Given the description of an element on the screen output the (x, y) to click on. 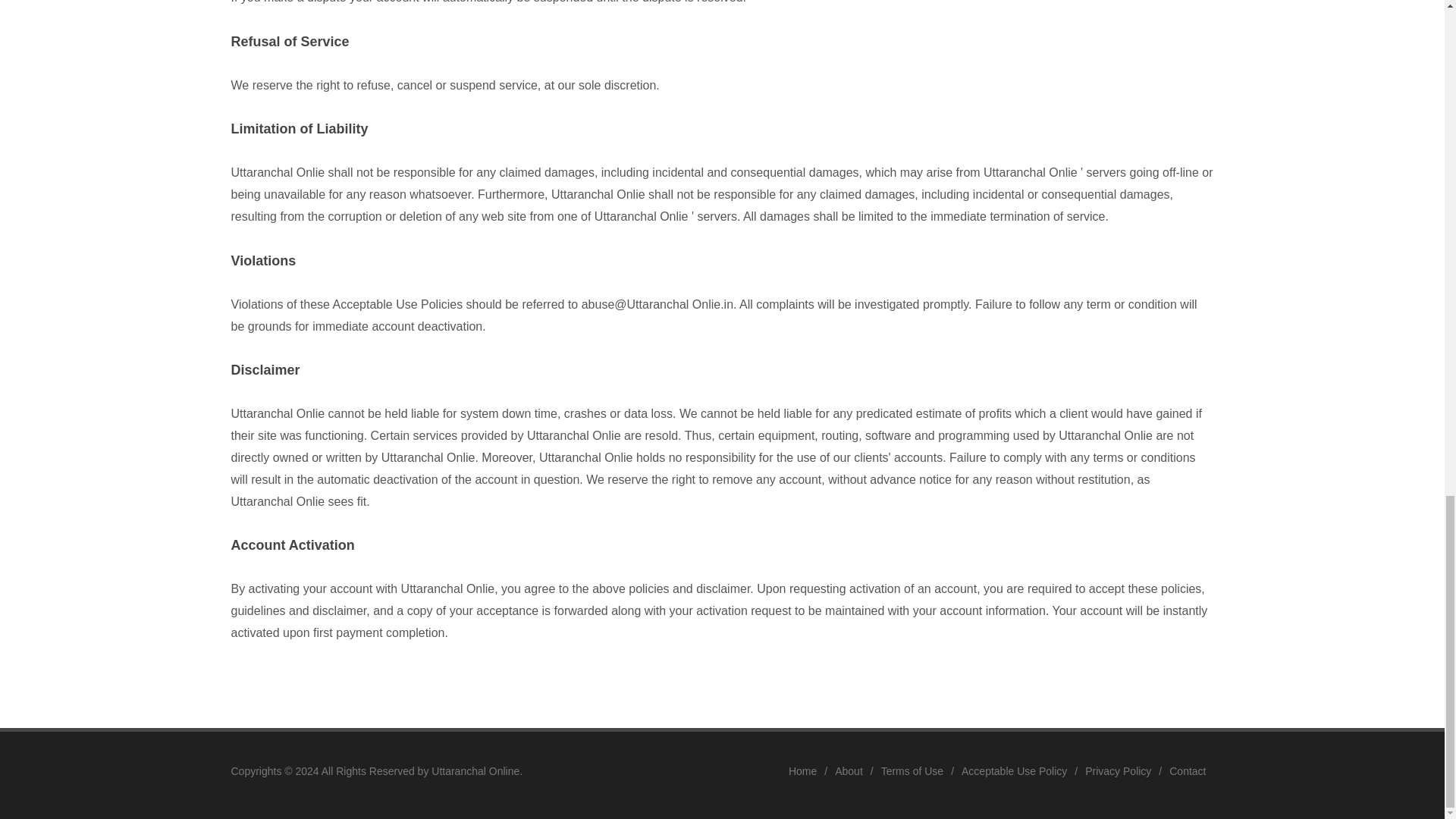
Terms of Use (911, 771)
Privacy Policy (1117, 771)
Home (802, 771)
About (848, 771)
Acceptable Use Policy (1013, 771)
Contact (1187, 771)
